Given the description of an element on the screen output the (x, y) to click on. 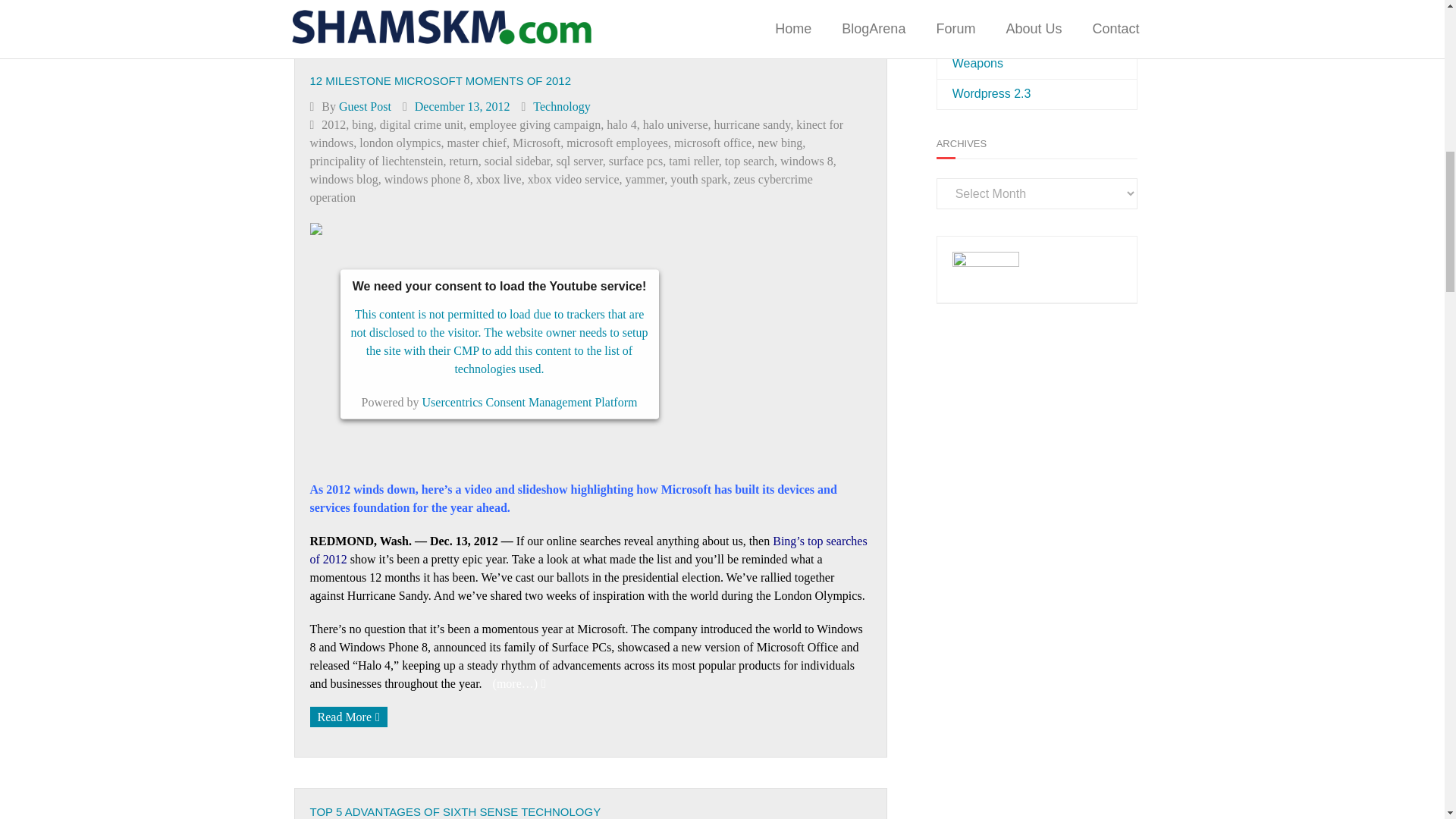
Permalink to Top 5 Advantages of Sixth Sense Technology (453, 811)
Permalink to 12 Milestone Microsoft Moments of 2012 (439, 80)
View all posts by Guest Post (365, 106)
12 Milestone Microsoft Moments of 2012 (462, 106)
